Given the description of an element on the screen output the (x, y) to click on. 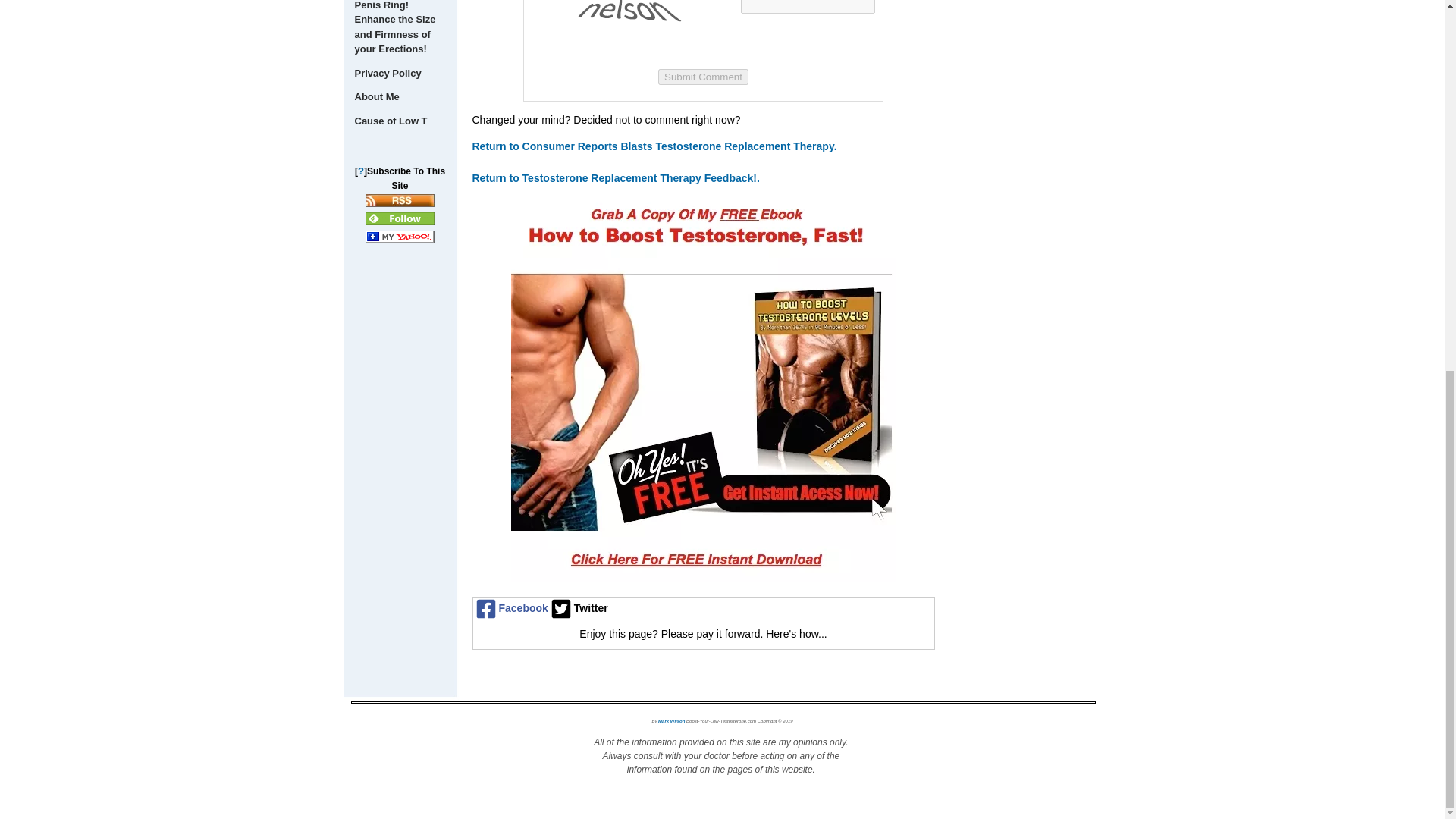
About Me (399, 96)
Submit Comment (703, 75)
Twitter (578, 608)
Submit Comment (703, 75)
Privacy Policy (399, 73)
Penis Ring! Enhance the Size and Firmness of your Erections! (399, 30)
Facebook (510, 608)
Cause of Low T (399, 119)
Mark Wilson (671, 719)
Return to Testosterone Replacement Therapy Feedback!. (614, 177)
